Given the description of an element on the screen output the (x, y) to click on. 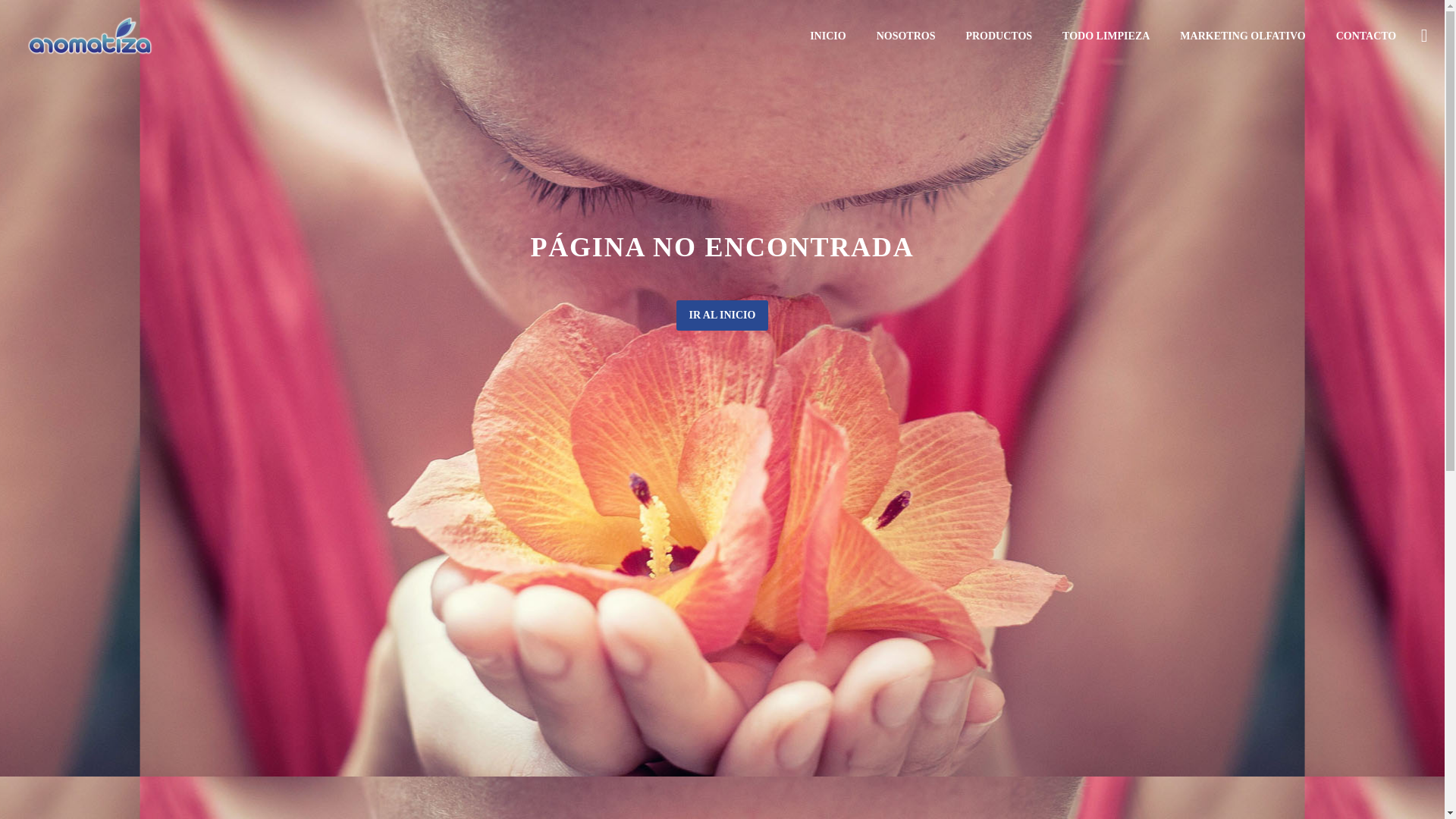
PRODUCTOS (998, 36)
INICIO (827, 36)
TODO LIMPIEZA (1105, 36)
CONTACTO (1366, 36)
NOSOTROS (905, 36)
MARKETING OLFATIVO (1242, 36)
IR AL INICIO (722, 315)
